Given the description of an element on the screen output the (x, y) to click on. 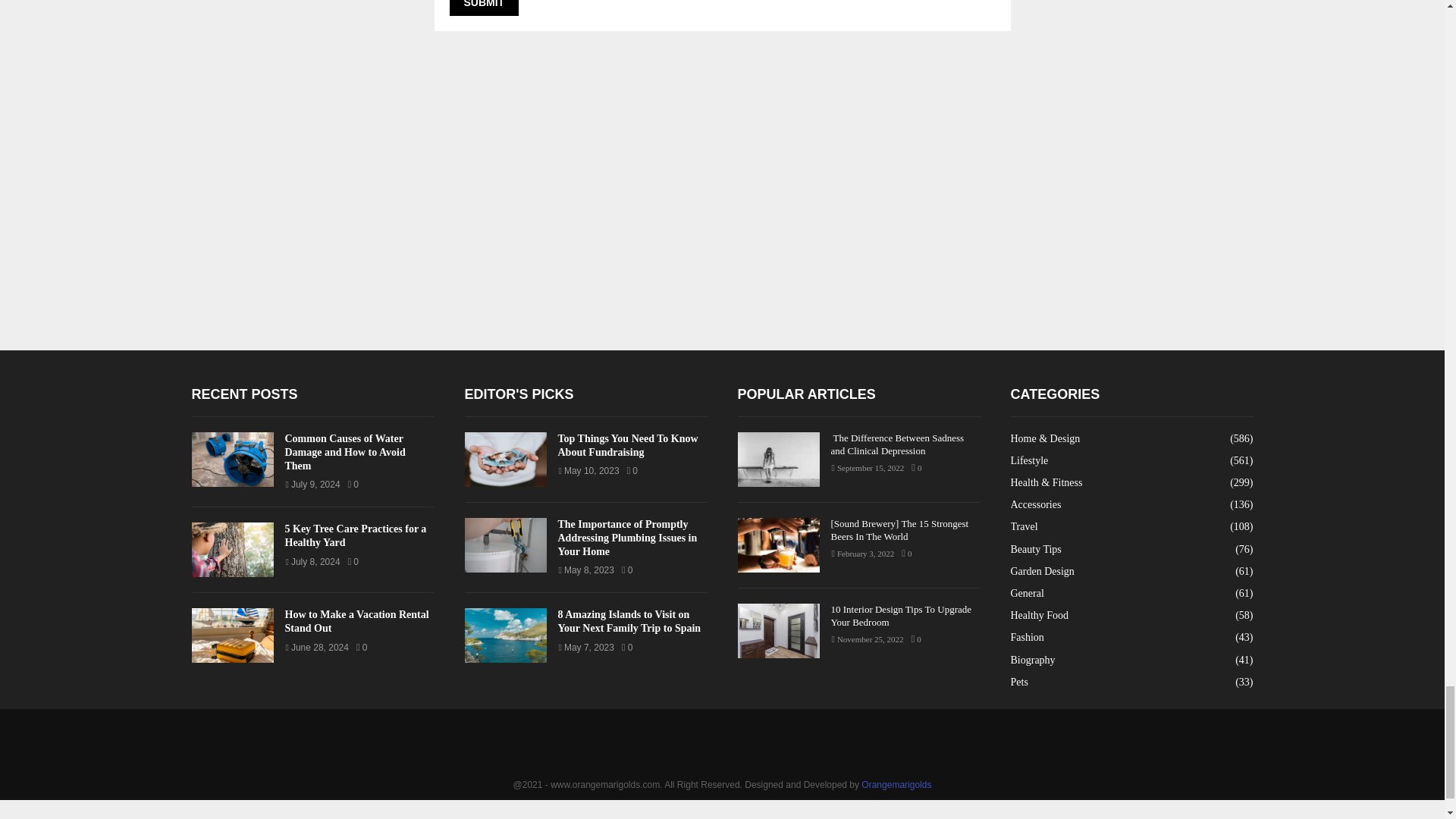
Submit (483, 7)
